Given the description of an element on the screen output the (x, y) to click on. 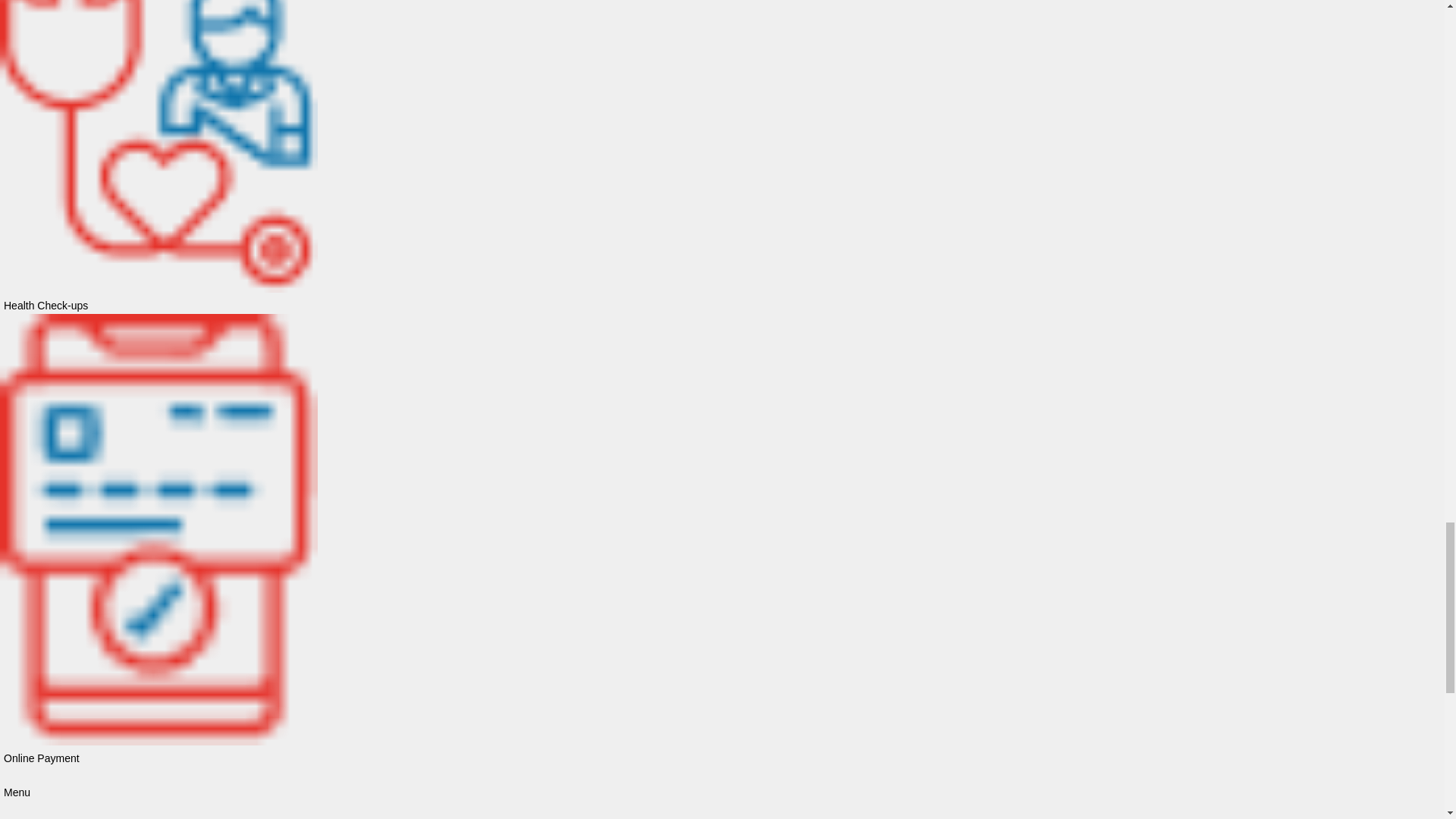
Natural remedies for skin in winter (389, 123)
Read more (330, 182)
